Given the description of an element on the screen output the (x, y) to click on. 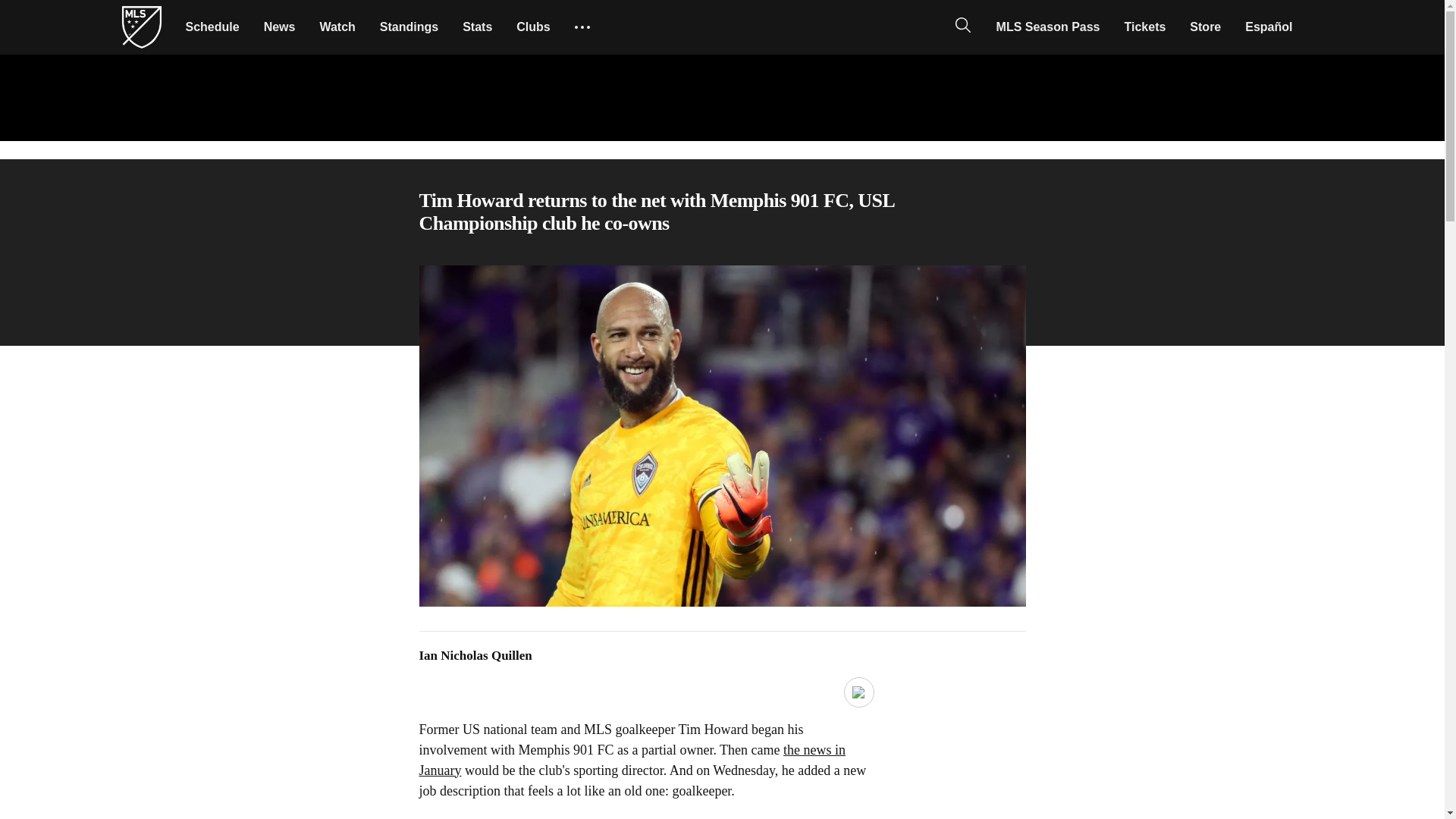
Tickets (1144, 26)
Major League Soccer (141, 27)
Clubs (532, 26)
MLS Season Pass (1048, 26)
Watch (336, 26)
Store (1205, 26)
Schedule (211, 26)
News (279, 26)
Stats (476, 26)
Standings (408, 26)
